Given the description of an element on the screen output the (x, y) to click on. 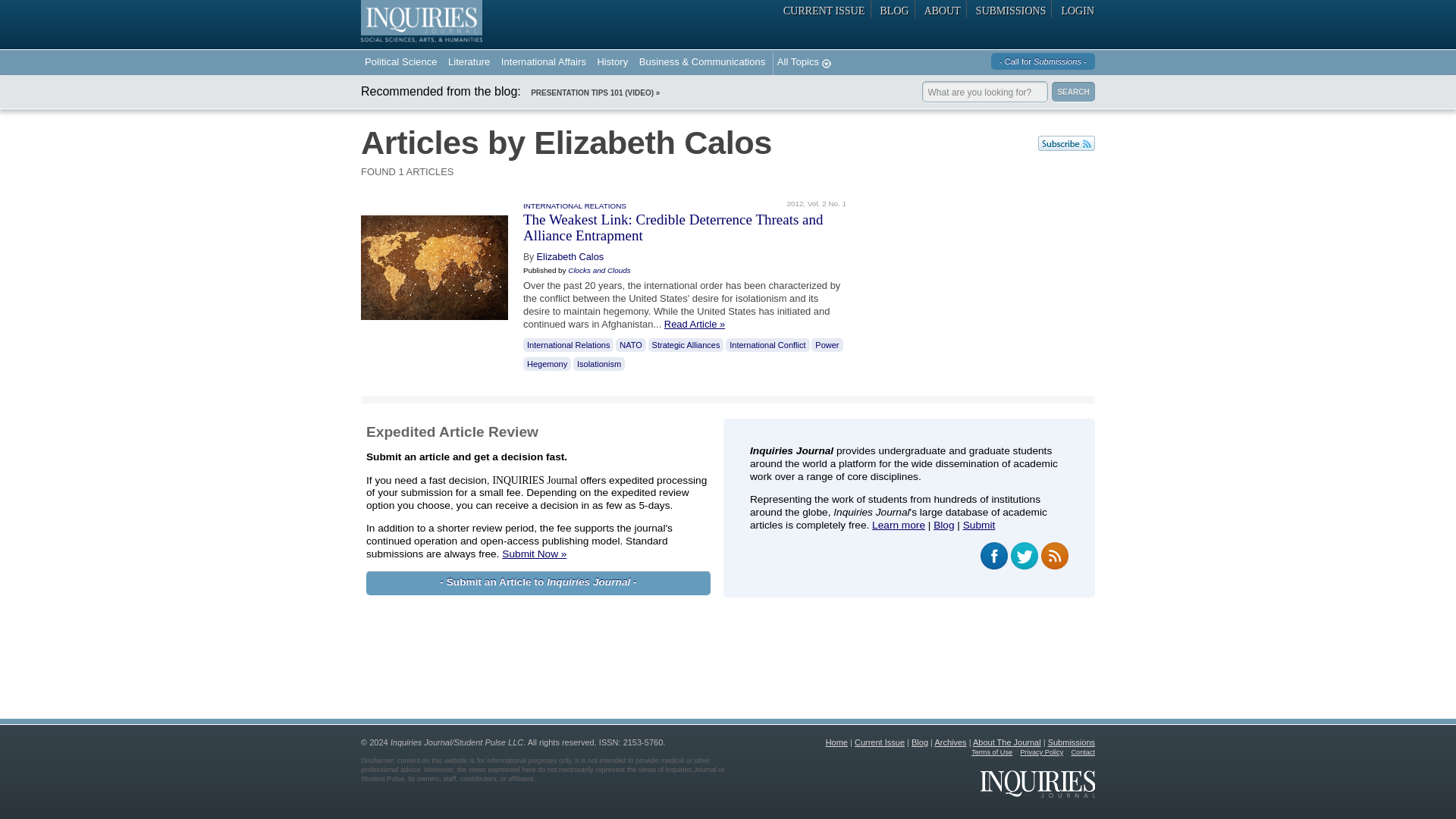
LOGIN (1074, 9)
SEARCH (1072, 91)
  - Call for Submissions -   (1042, 61)
Follow us on Twitter (1024, 555)
Subscribe to this author's RSS (1066, 142)
International Affairs (543, 63)
All Topics (802, 63)
Political Science (401, 63)
ABOUT (942, 9)
CURRENT ISSUE (823, 9)
Subscribe via RSS (1054, 555)
Follow us on Facebook (993, 555)
History (611, 63)
Literature (468, 63)
SUBMISSIONS (1011, 9)
